Given the description of an element on the screen output the (x, y) to click on. 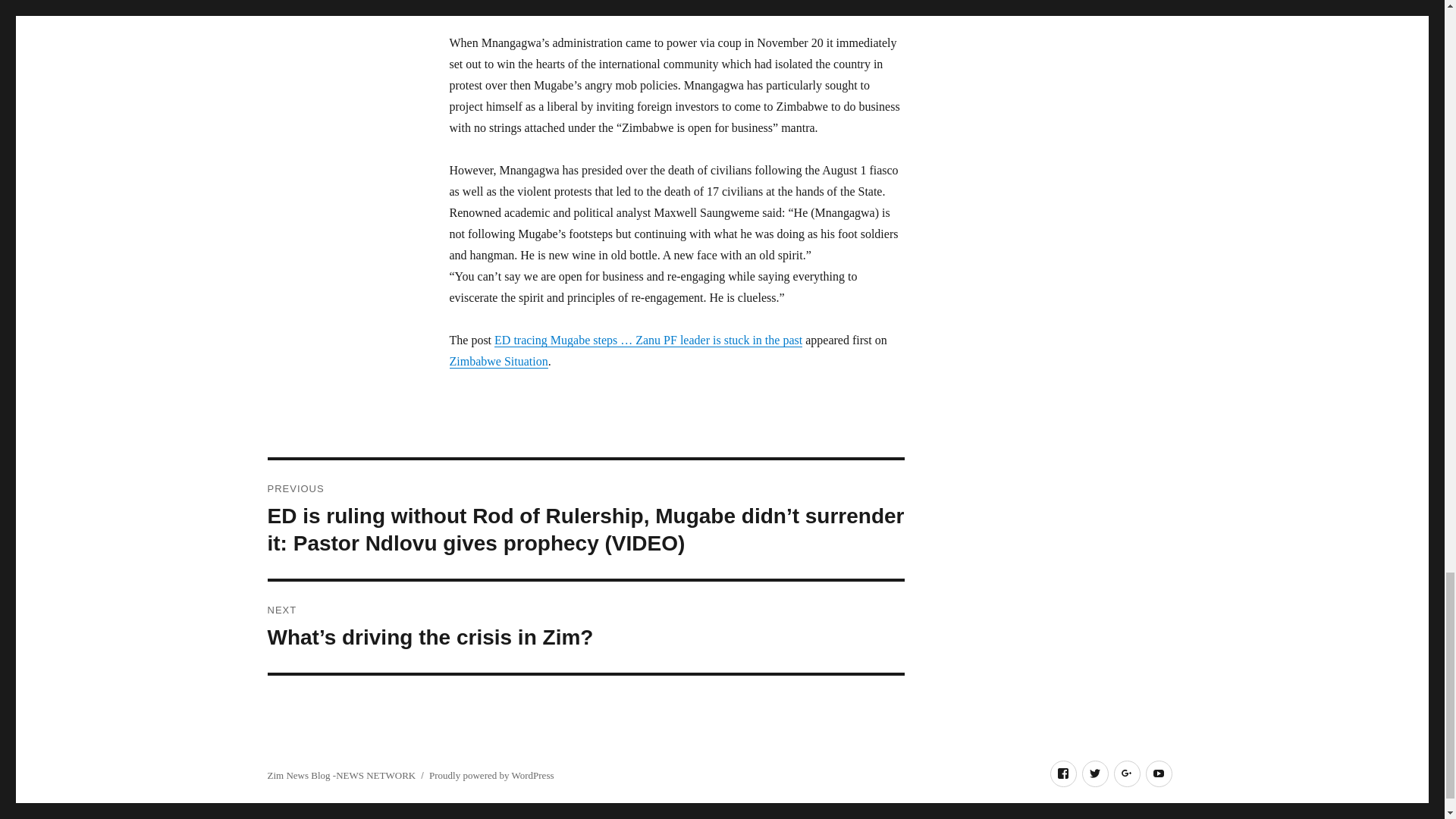
Zimbabwe Situation (497, 360)
Facebook (1062, 773)
Proudly powered by WordPress (491, 775)
Zim News Blog -NEWS NETWORK (340, 775)
Twitter (1094, 773)
Youtube (1158, 773)
